Given the description of an element on the screen output the (x, y) to click on. 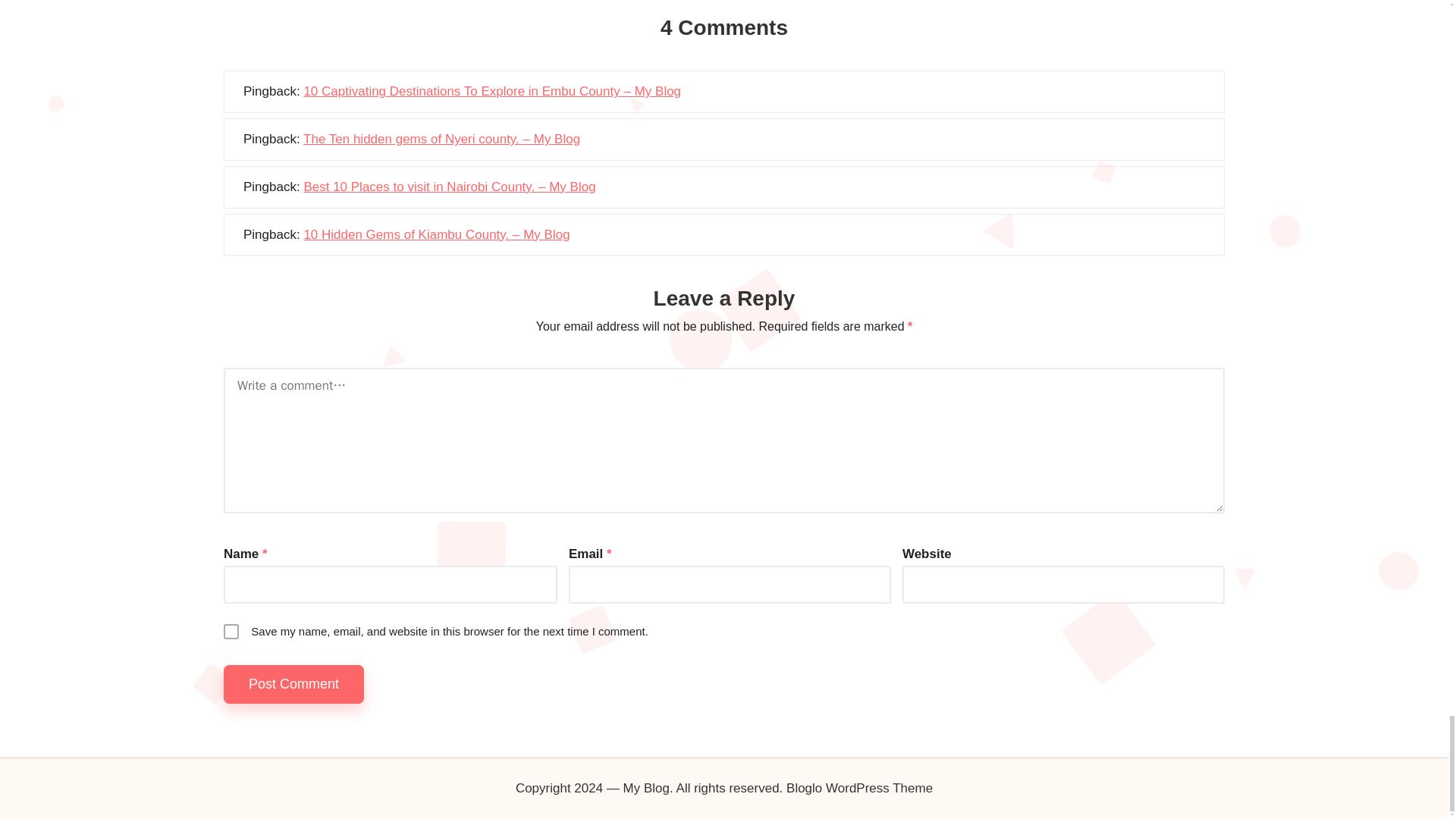
Post Comment (294, 684)
yes (231, 631)
